Given the description of an element on the screen output the (x, y) to click on. 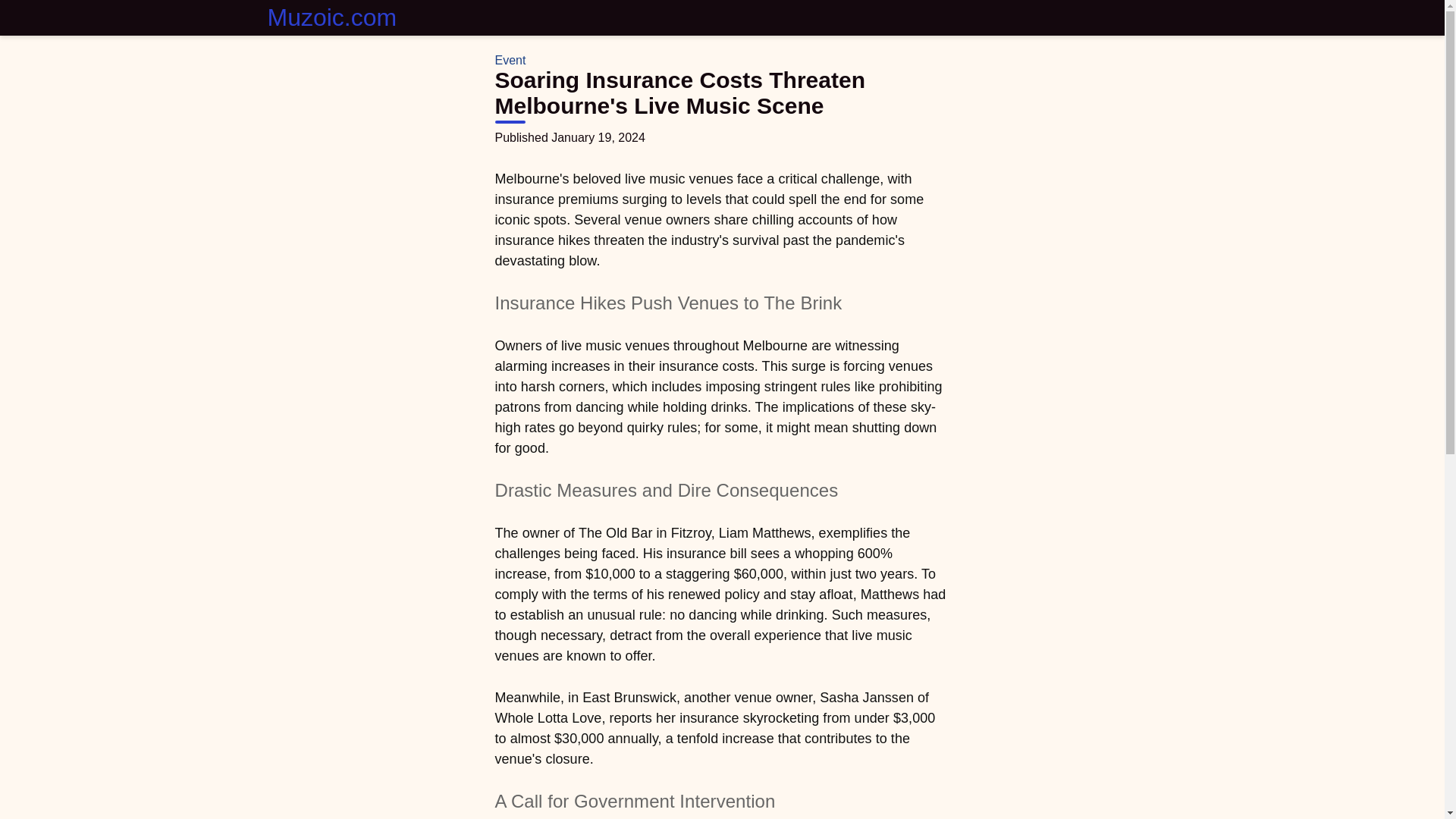
Event (510, 60)
Muzoic.com (331, 17)
